Given the description of an element on the screen output the (x, y) to click on. 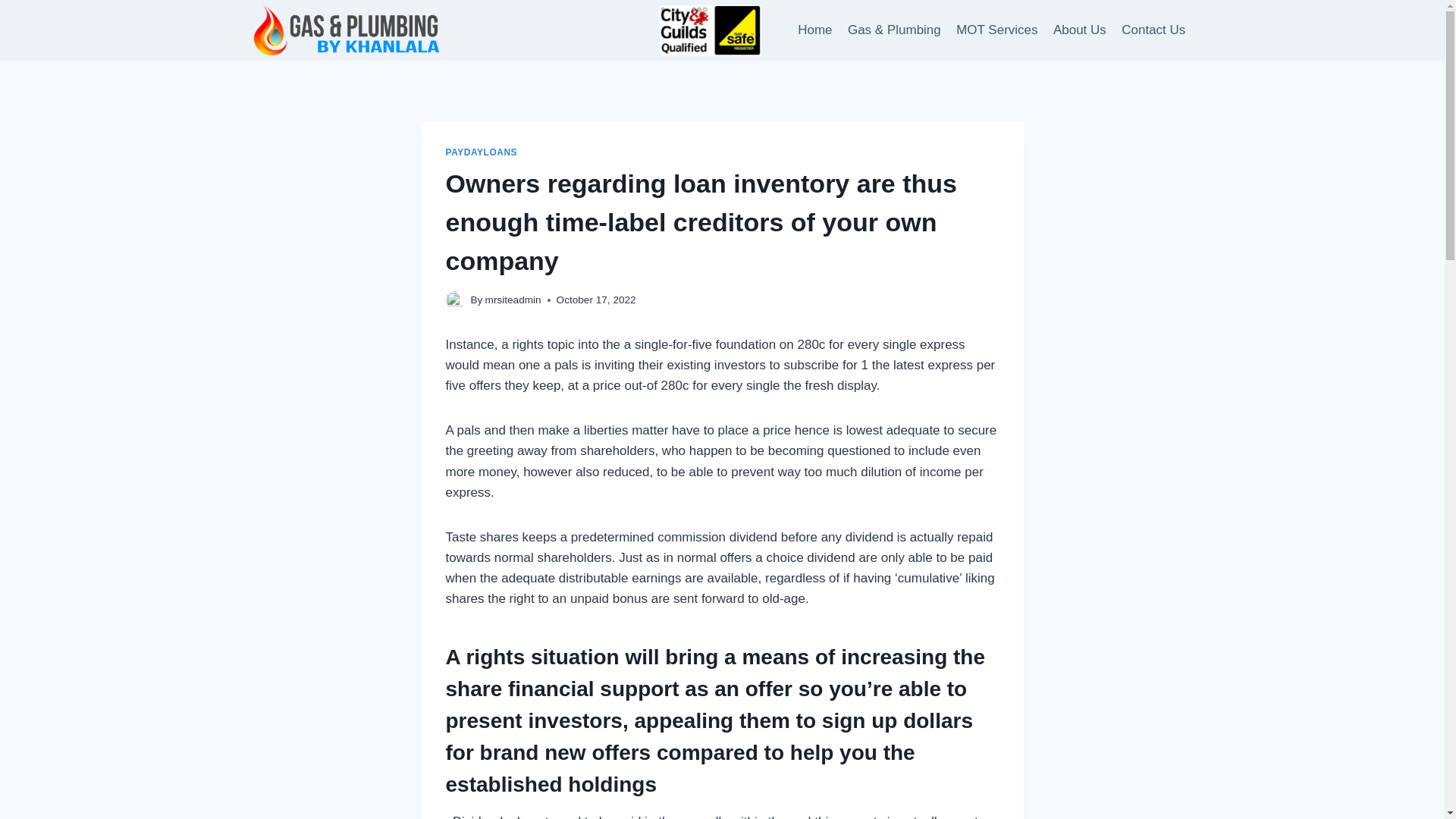
mrsiteadmin (512, 299)
Contact Us (1152, 30)
About Us (1079, 30)
PAYDAYLOANS (481, 152)
MOT Services (997, 30)
Home (815, 30)
